Given the description of an element on the screen output the (x, y) to click on. 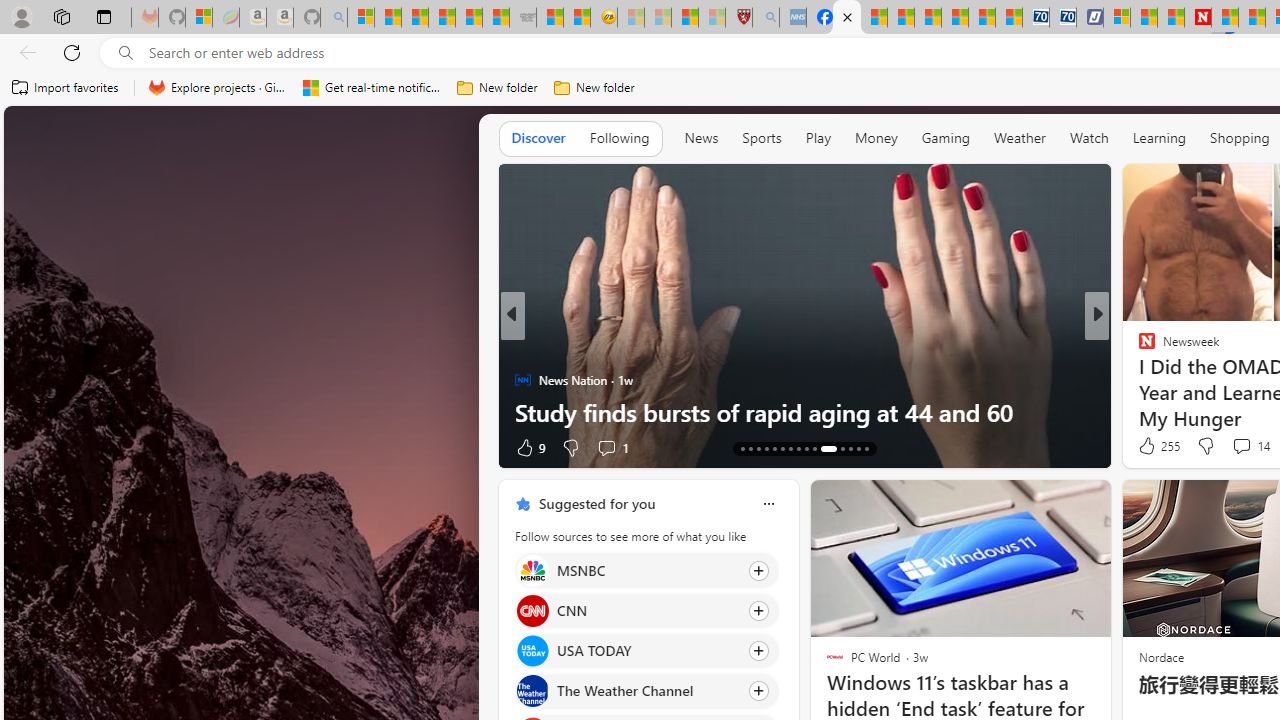
View comments 2 Comment (11, 447)
AutomationID: tab-91 (857, 448)
317 Like (535, 447)
AutomationID: tab-73 (797, 448)
The Weather Channel - MSN (414, 17)
Newsweek - News, Analysis, Politics, Business, Technology (1197, 17)
CNN (532, 610)
Suggested for you (596, 503)
